Given the description of an element on the screen output the (x, y) to click on. 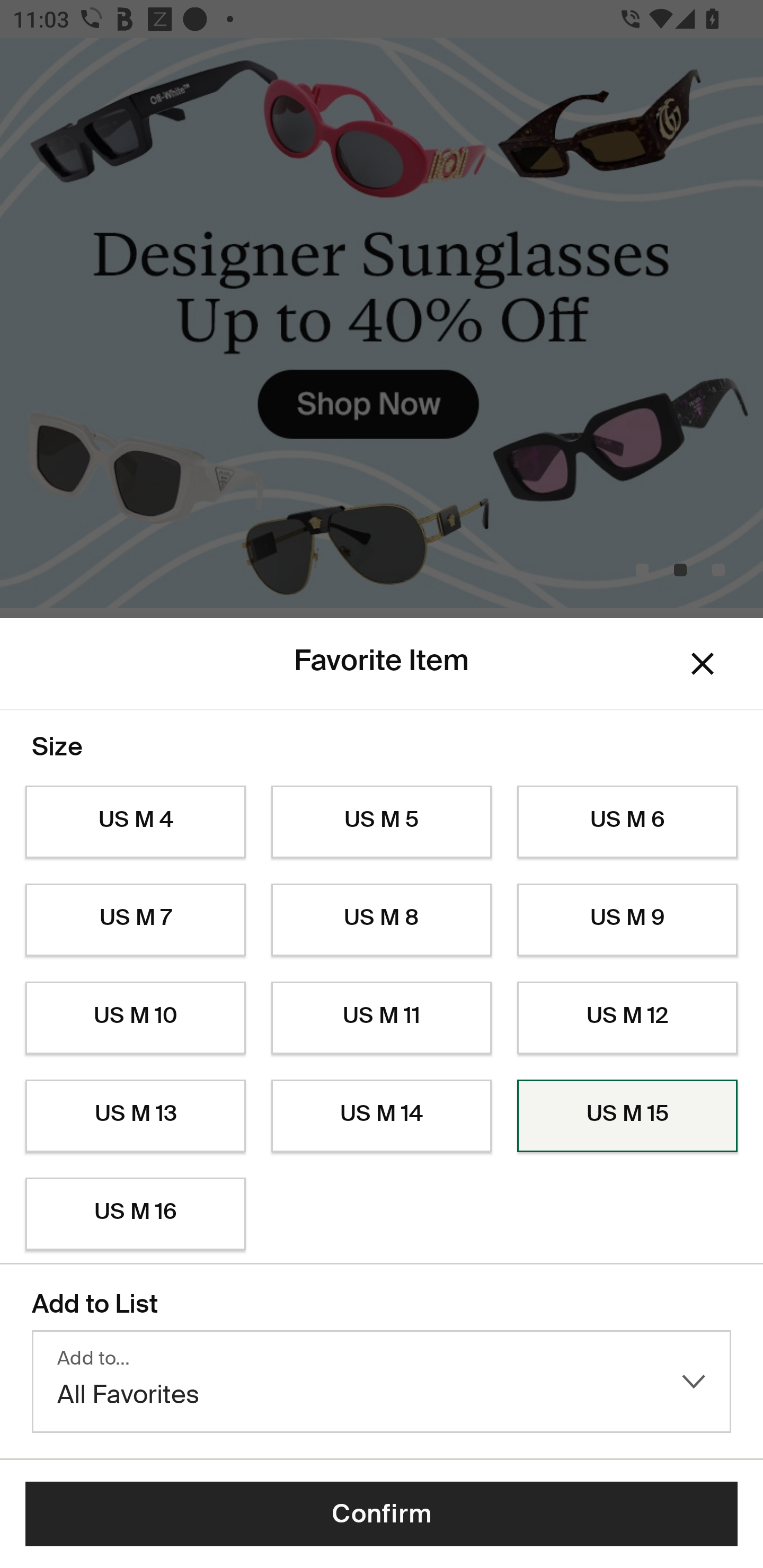
Dismiss (702, 663)
US M 4 (135, 822)
US M 5 (381, 822)
US M 6 (627, 822)
US M 7 (135, 919)
US M 8 (381, 919)
US M 9 (627, 919)
US M 10 (135, 1018)
US M 11 (381, 1018)
US M 12 (627, 1018)
US M 13 (135, 1116)
US M 14 (381, 1116)
US M 15 (627, 1116)
US M 16 (135, 1214)
Add to… All Favorites (381, 1381)
Confirm (381, 1513)
